Given the description of an element on the screen output the (x, y) to click on. 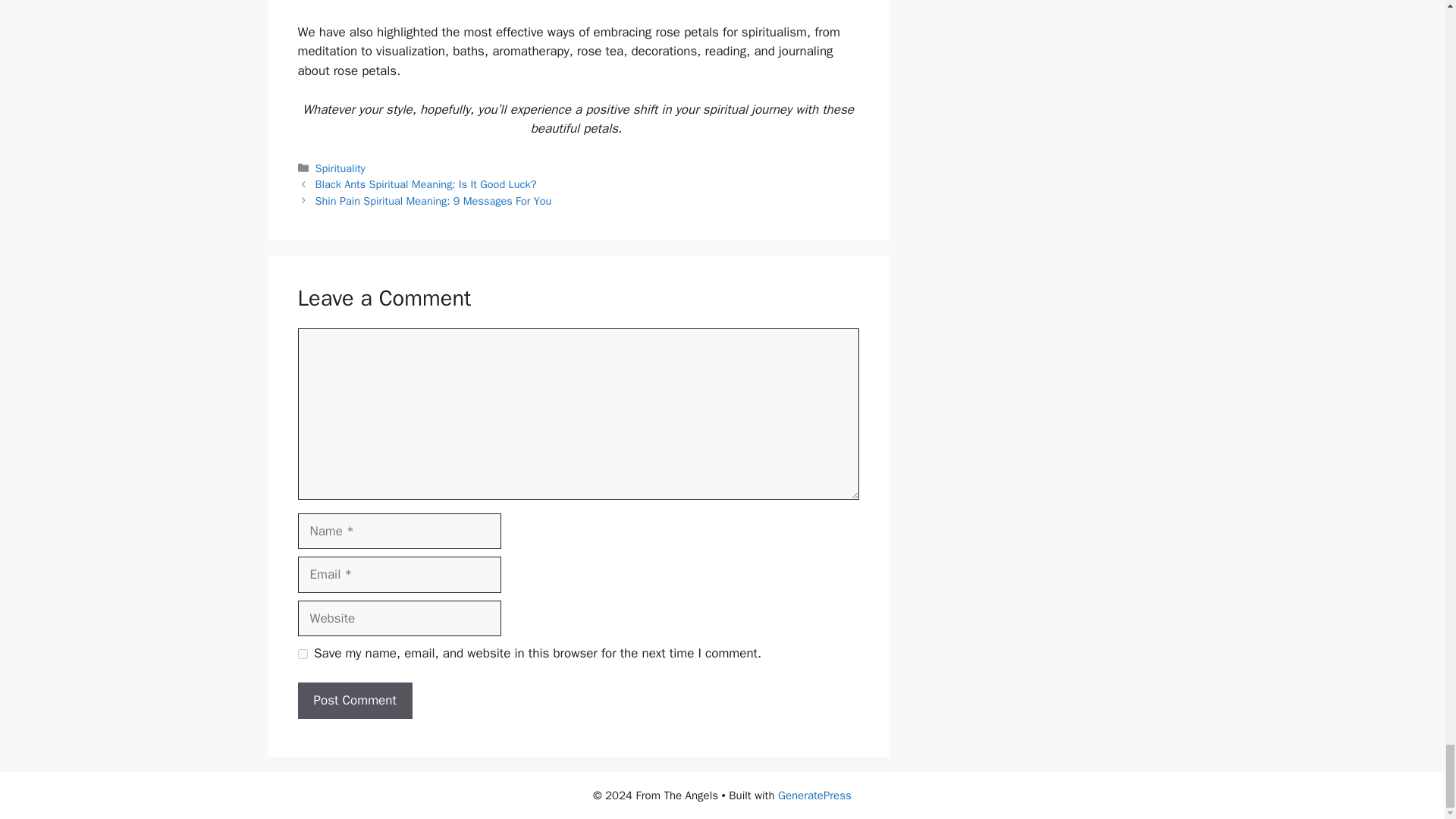
Post Comment (354, 700)
Previous (426, 183)
Next (433, 201)
Spirituality (340, 168)
Post Comment (354, 700)
yes (302, 654)
Shin Pain Spiritual Meaning: 9 Messages For You (433, 201)
GeneratePress (814, 795)
Black Ants Spiritual Meaning: Is It Good Luck? (426, 183)
